Given the description of an element on the screen output the (x, y) to click on. 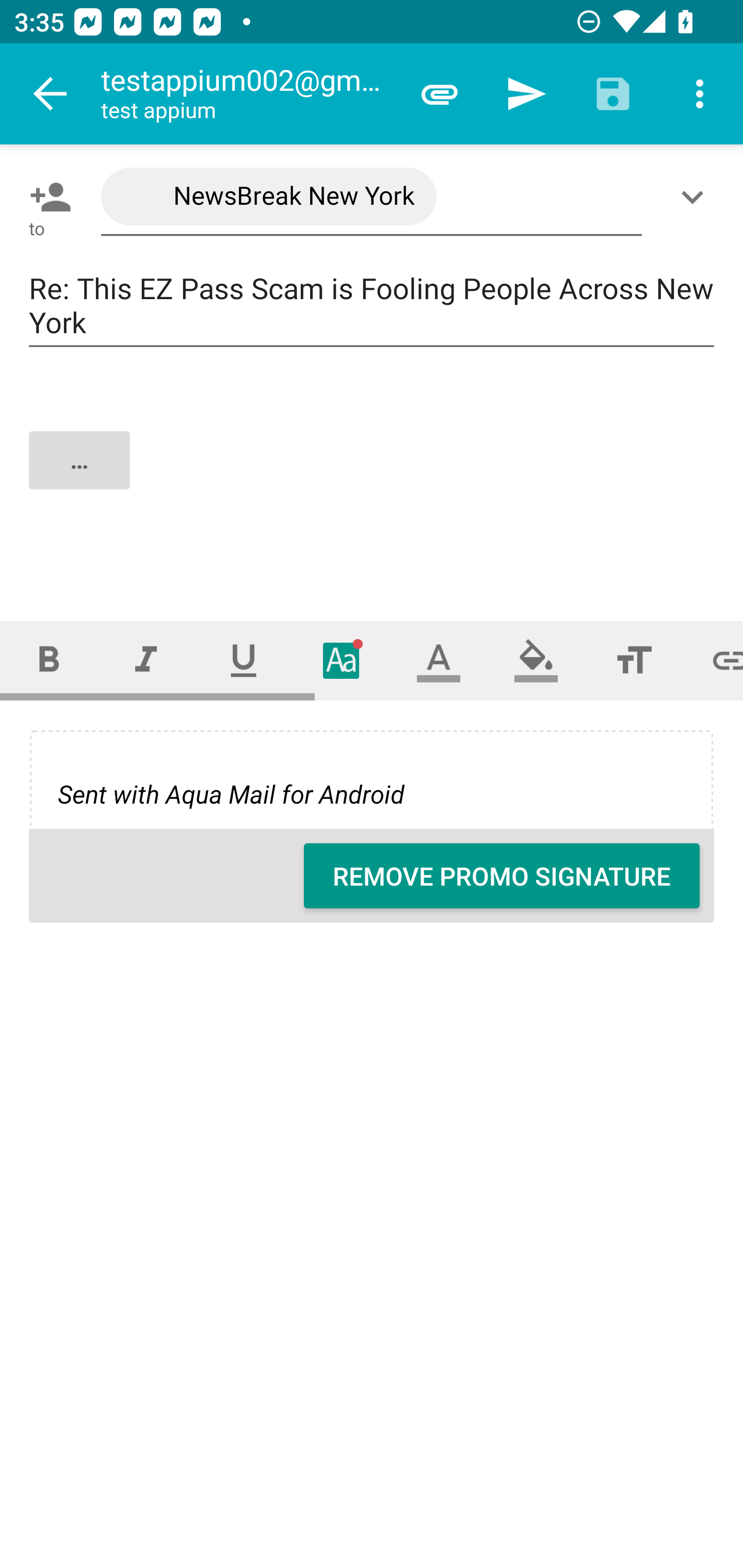
Navigate up (50, 93)
testappium002@gmail.com test appium (248, 93)
Attach (439, 93)
Send (525, 93)
Save (612, 93)
More options (699, 93)
Pick contact: To (46, 196)
Show/Add CC/BCC (696, 196)

…
 (372, 477)
Bold (48, 660)
Italic (145, 660)
Underline (243, 660)
Typeface (font) (341, 660)
Text color (438, 660)
Fill color (536, 660)
Font size (633, 660)
REMOVE PROMO SIGNATURE (501, 875)
